Given the description of an element on the screen output the (x, y) to click on. 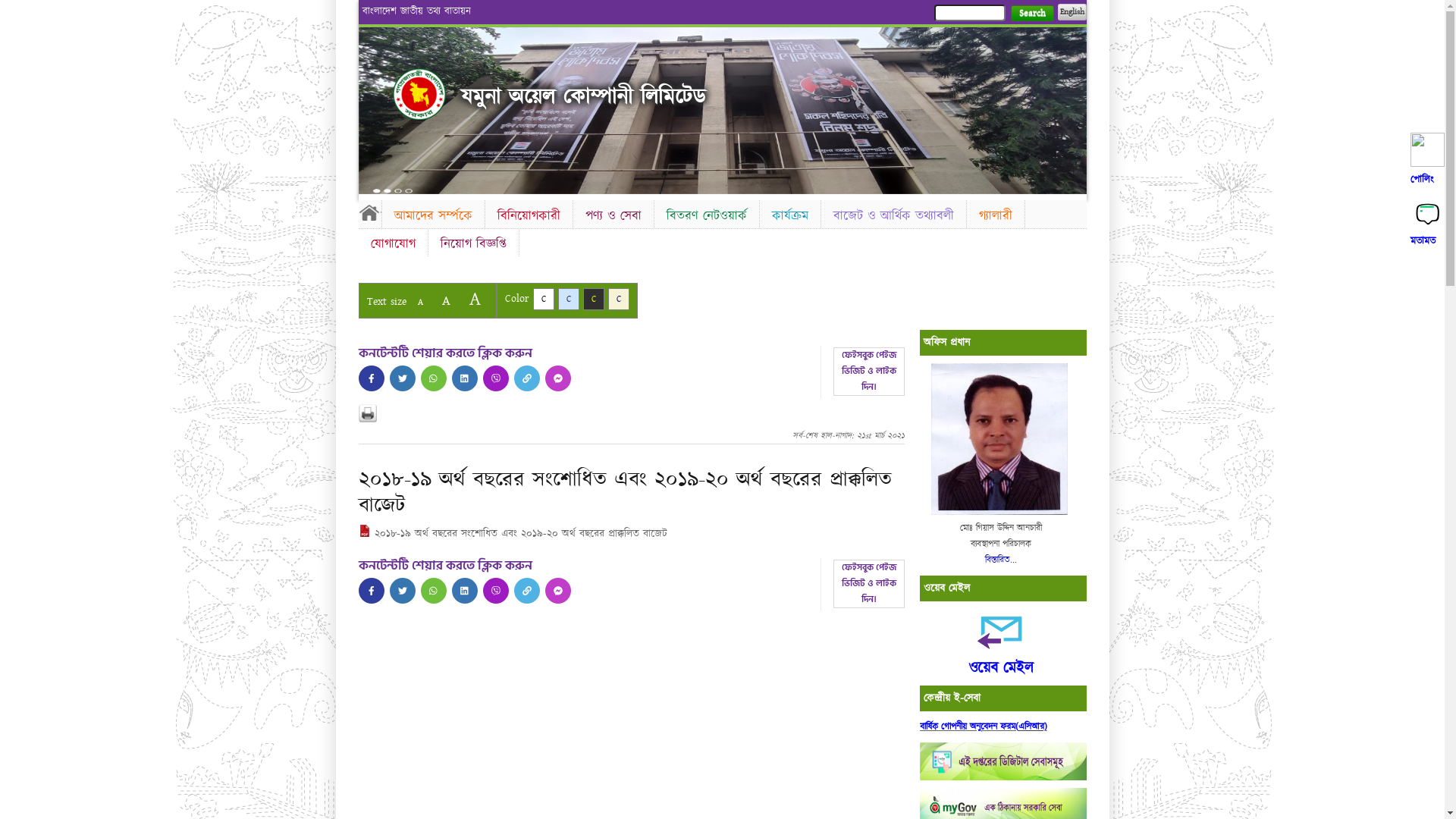
English Element type: text (1071, 11)
Home Element type: hover (368, 211)
Search Element type: text (1031, 13)
A Element type: text (445, 300)
A Element type: text (419, 301)
C Element type: text (542, 299)
Home Element type: hover (418, 93)
A Element type: text (474, 298)
C Element type: text (618, 299)
C Element type: text (568, 299)
C Element type: text (592, 299)
